Given the description of an element on the screen output the (x, y) to click on. 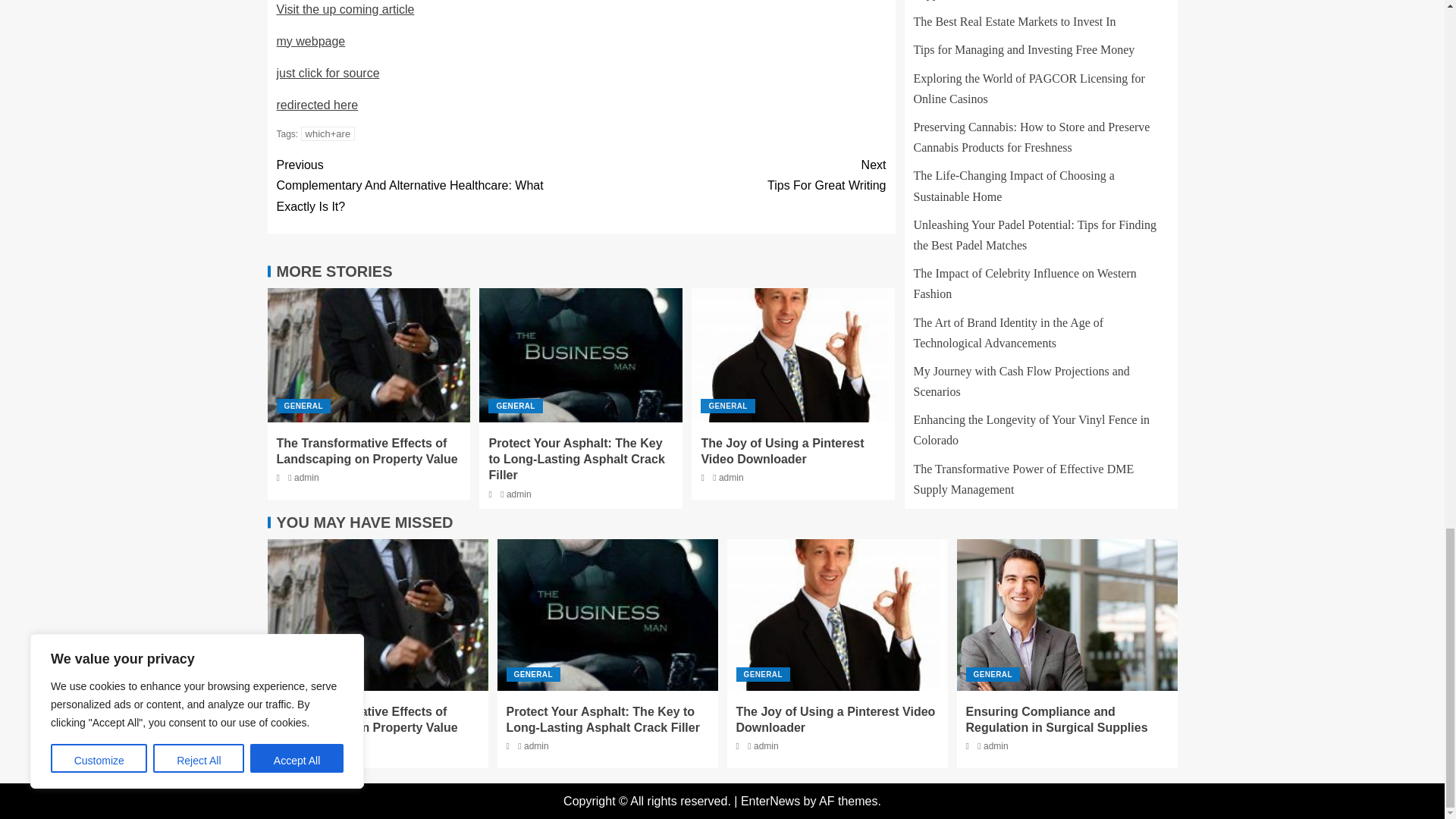
Visit the up coming article (732, 174)
redirected here (344, 9)
my webpage (317, 104)
just click for source (310, 41)
